Given the description of an element on the screen output the (x, y) to click on. 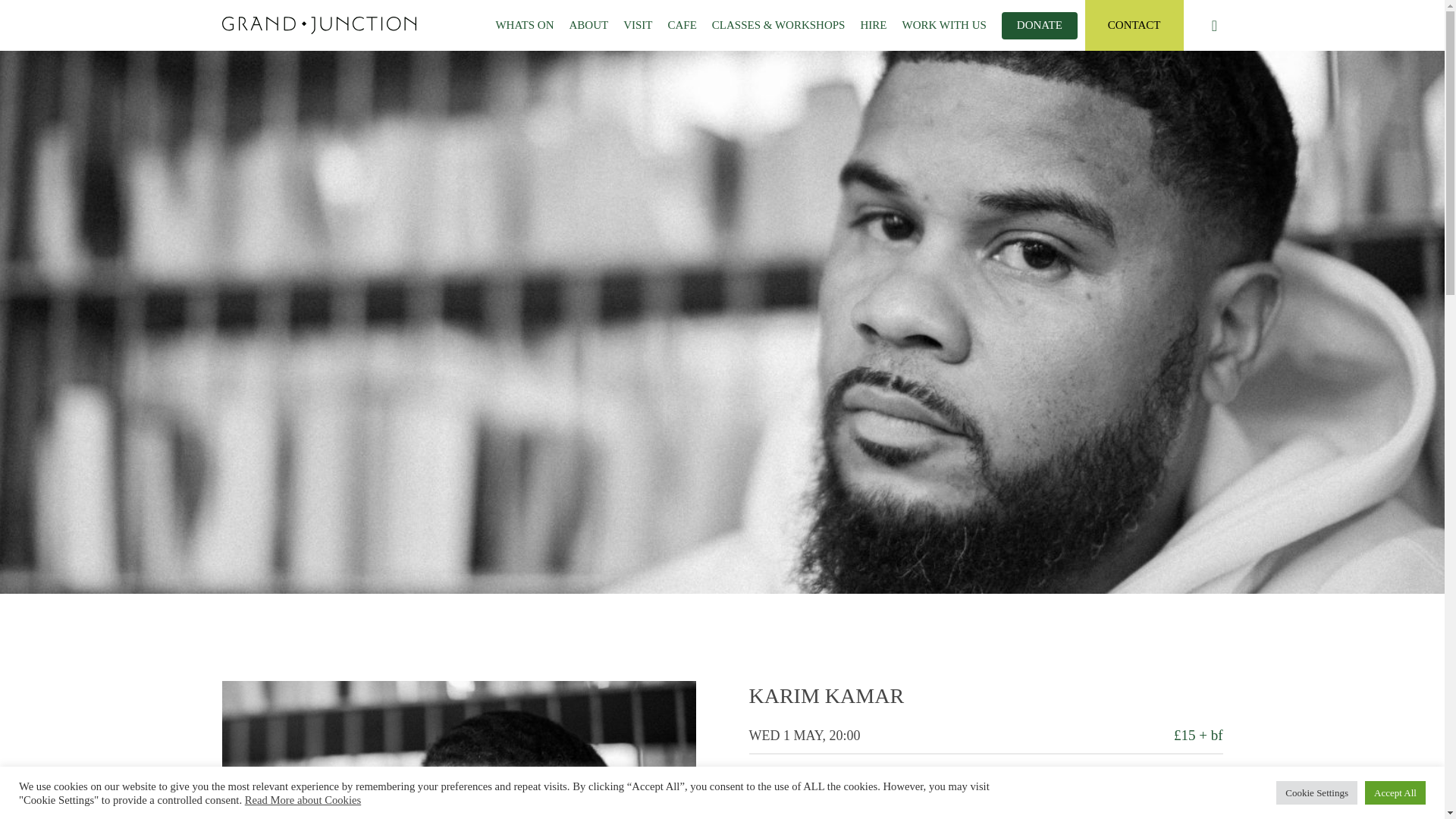
WHATS ON (523, 25)
ABOUT (588, 25)
CAFE (682, 25)
VISIT (637, 25)
